Given the description of an element on the screen output the (x, y) to click on. 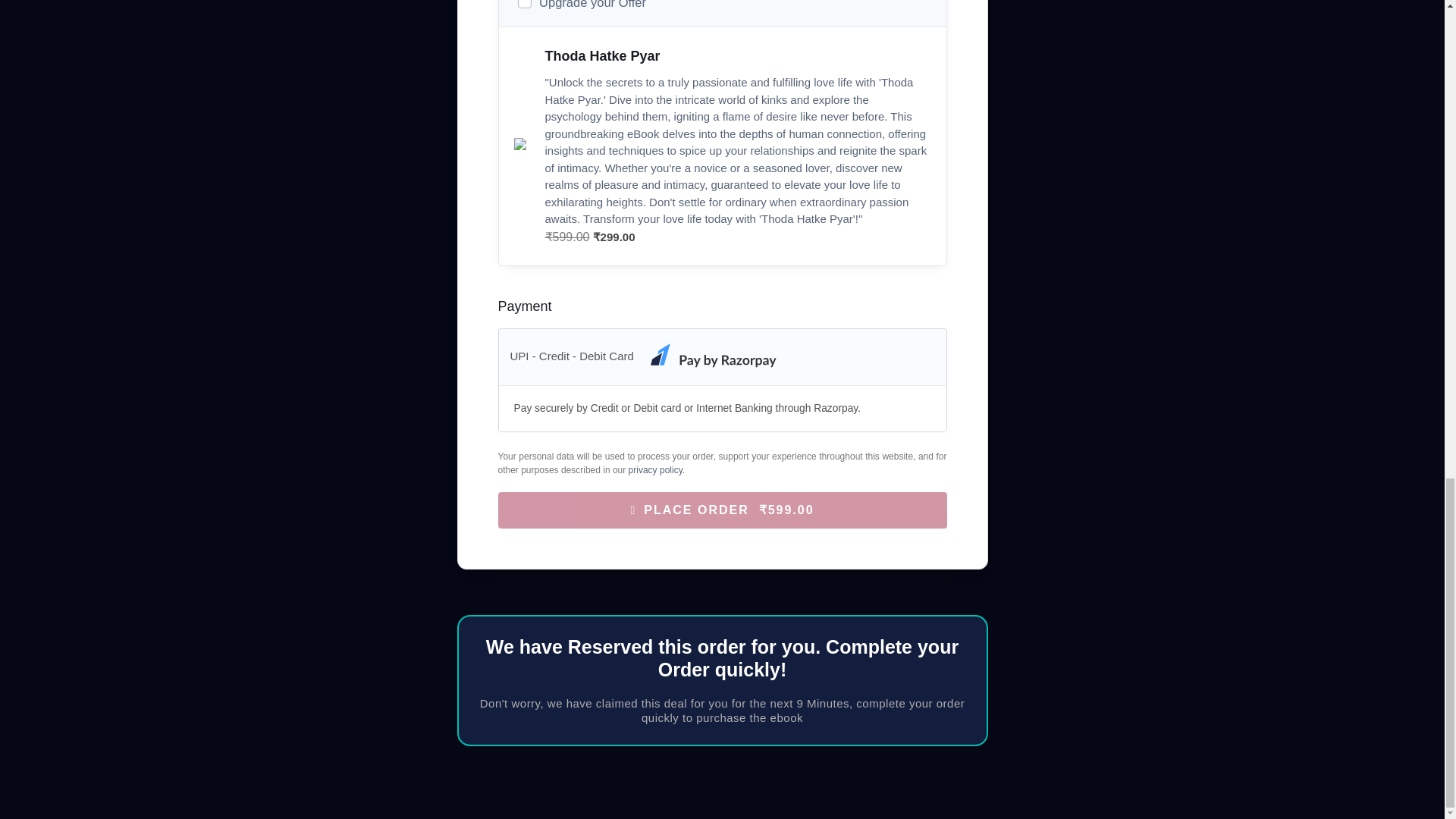
9ni (523, 4)
privacy policy (655, 470)
